Given the description of an element on the screen output the (x, y) to click on. 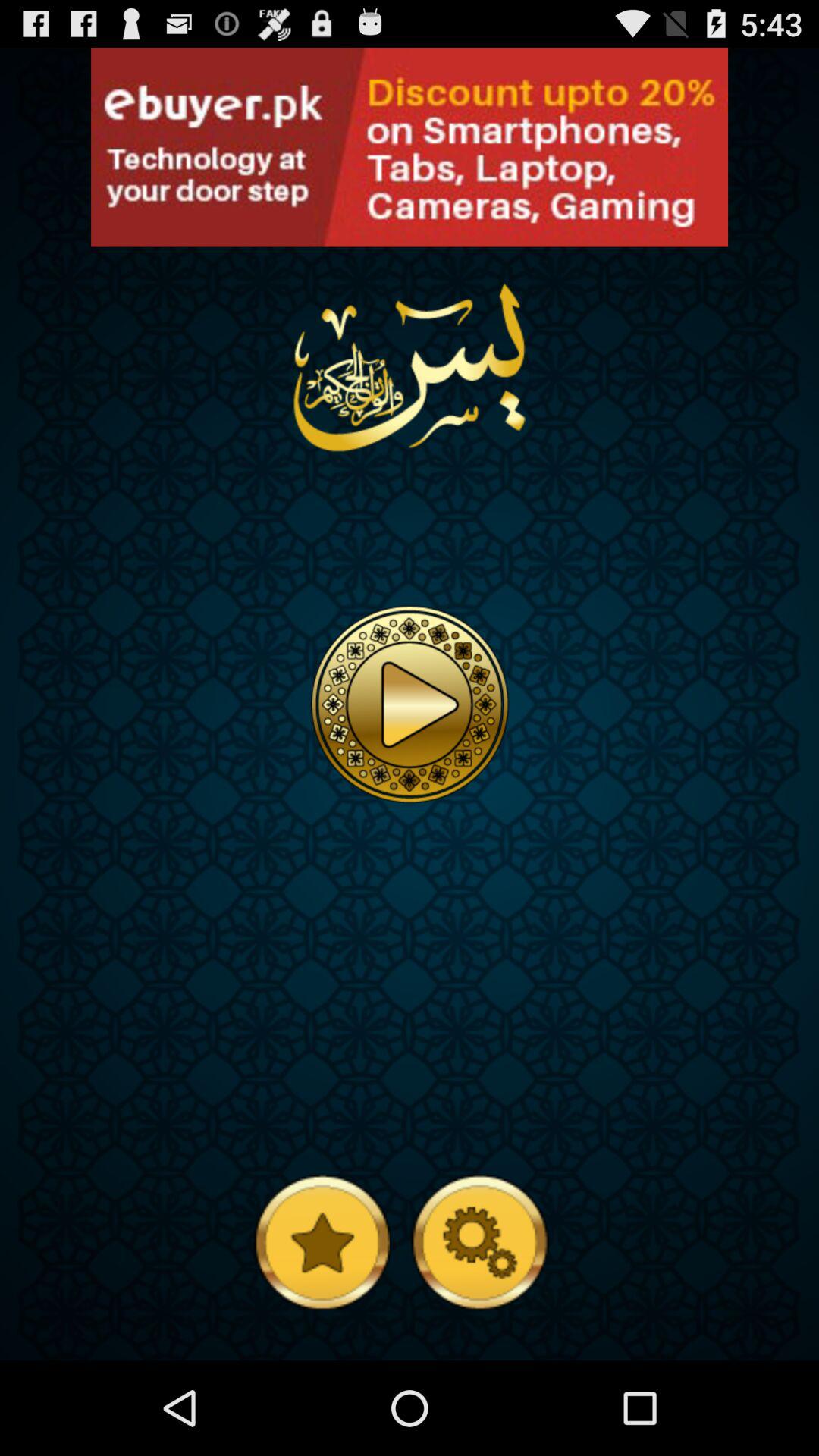
view option (409, 146)
